Given the description of an element on the screen output the (x, y) to click on. 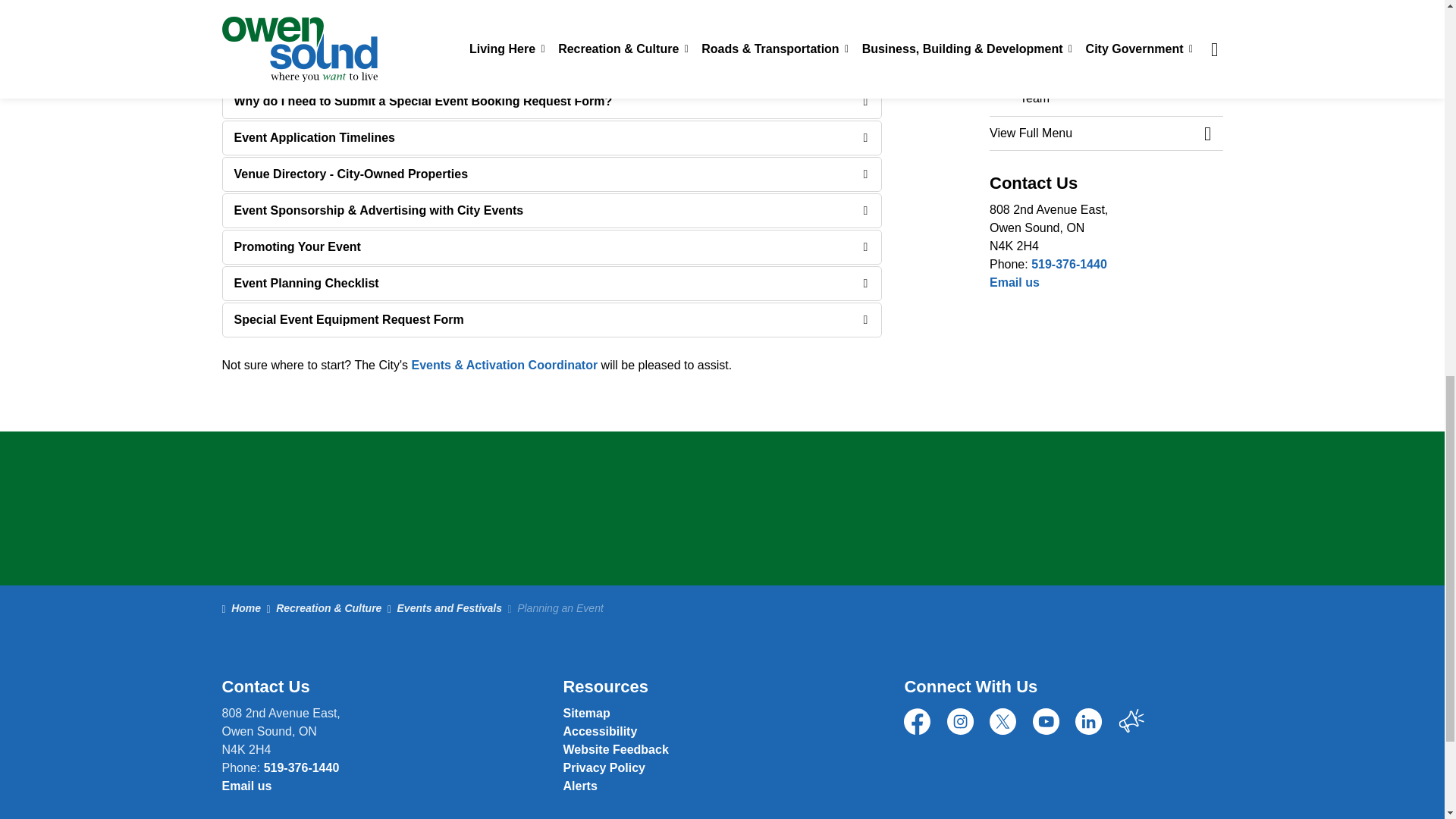
Sitemap (586, 712)
Contacts Directory (1014, 282)
News and Public Notices (579, 785)
Send an email to Events (503, 364)
Accessibility (599, 730)
Privacy Policy (603, 767)
Contacts Directory (615, 748)
Contacts Directory (245, 785)
